Given the description of an element on the screen output the (x, y) to click on. 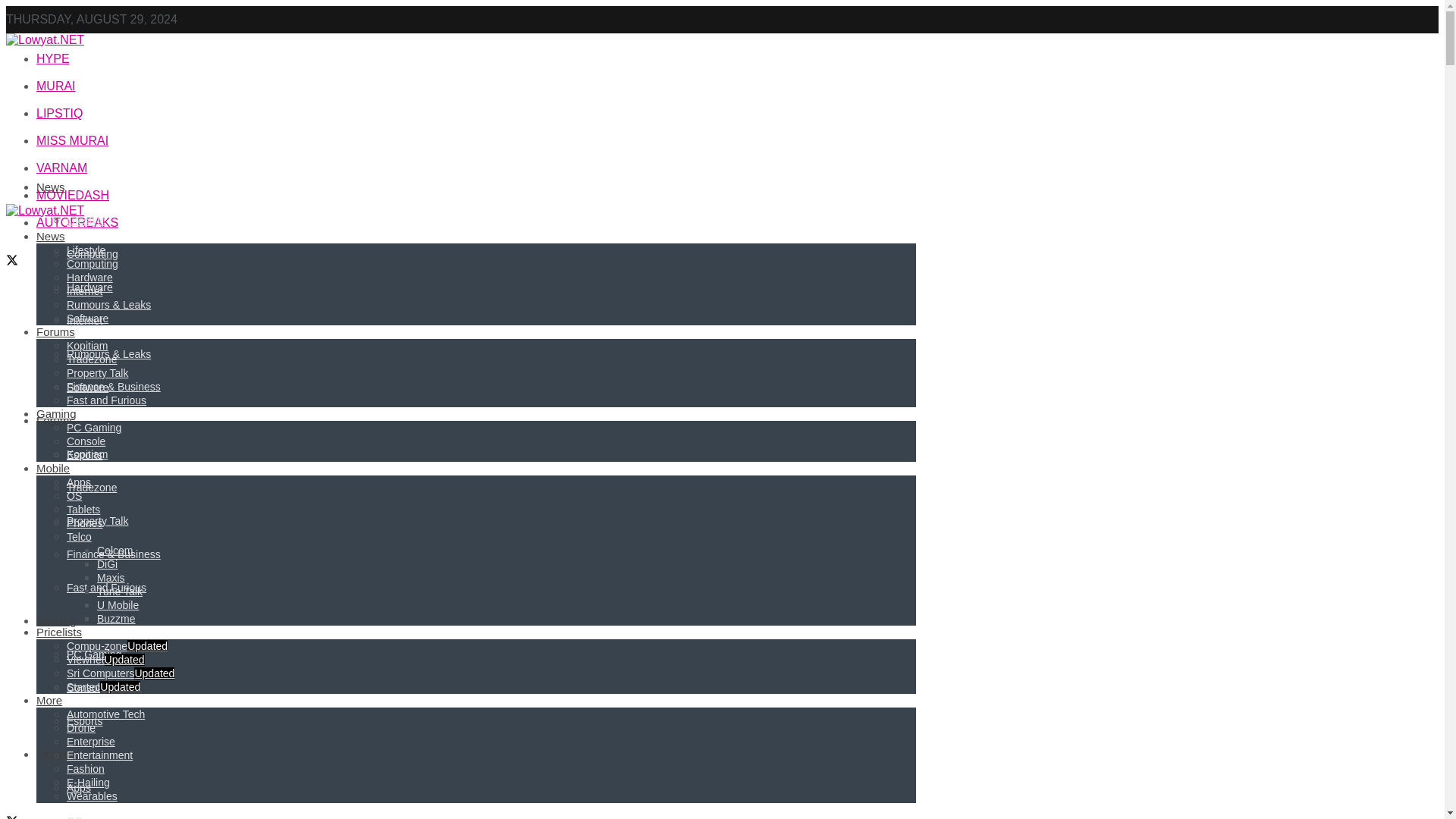
PC Gaming (93, 654)
HYPE (52, 58)
Software (86, 387)
Console (85, 687)
MURAI (55, 85)
Internet (83, 320)
Property Talk (97, 521)
Lifestyle (85, 220)
Computing (91, 254)
MISS MURAI (71, 140)
